Given the description of an element on the screen output the (x, y) to click on. 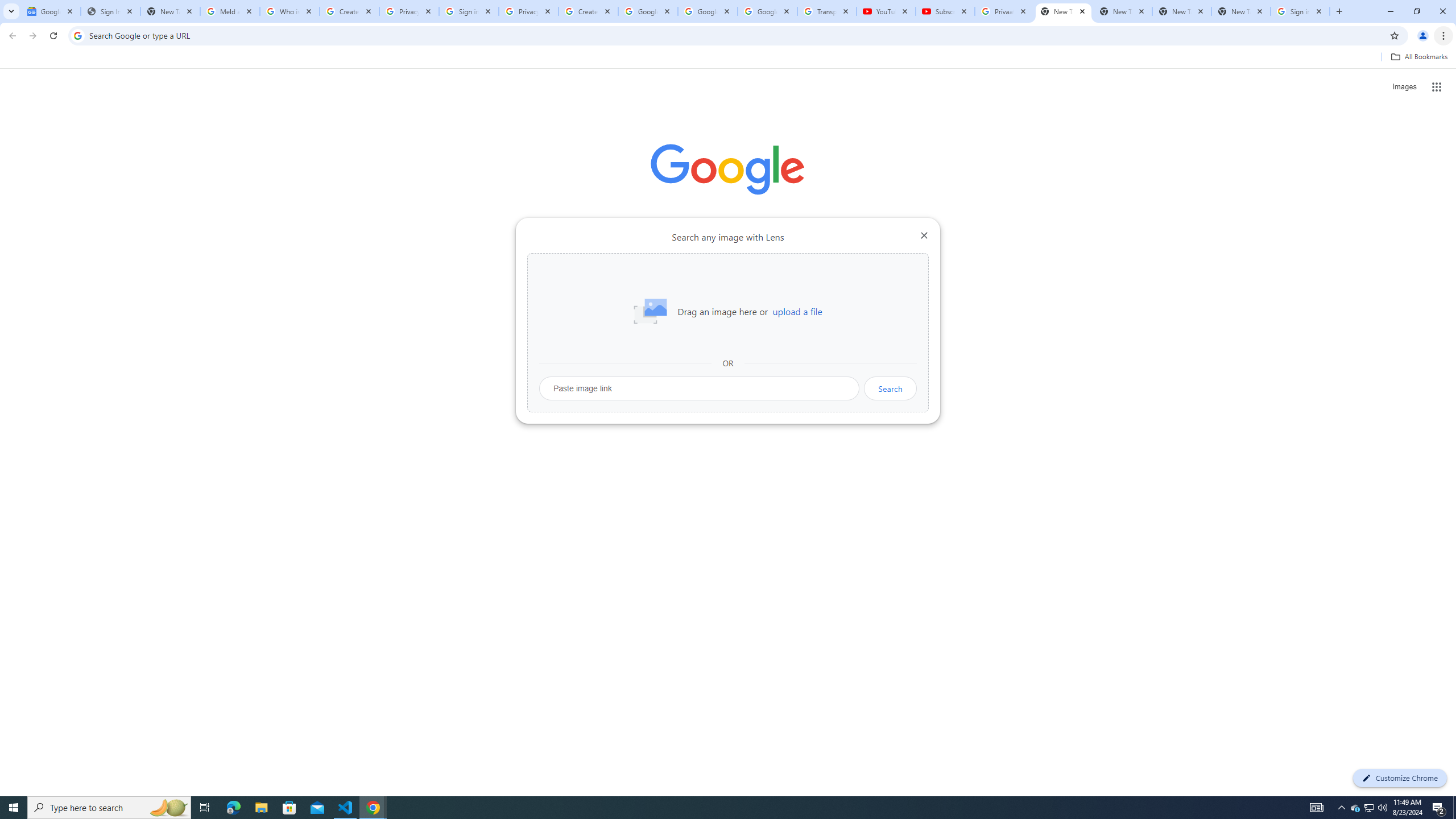
Bookmarks (728, 58)
YouTube (885, 11)
Customize Chrome (1399, 778)
Subscriptions - YouTube (944, 11)
Add shortcut (855, 287)
All Bookmarks (1418, 56)
